Given the description of an element on the screen output the (x, y) to click on. 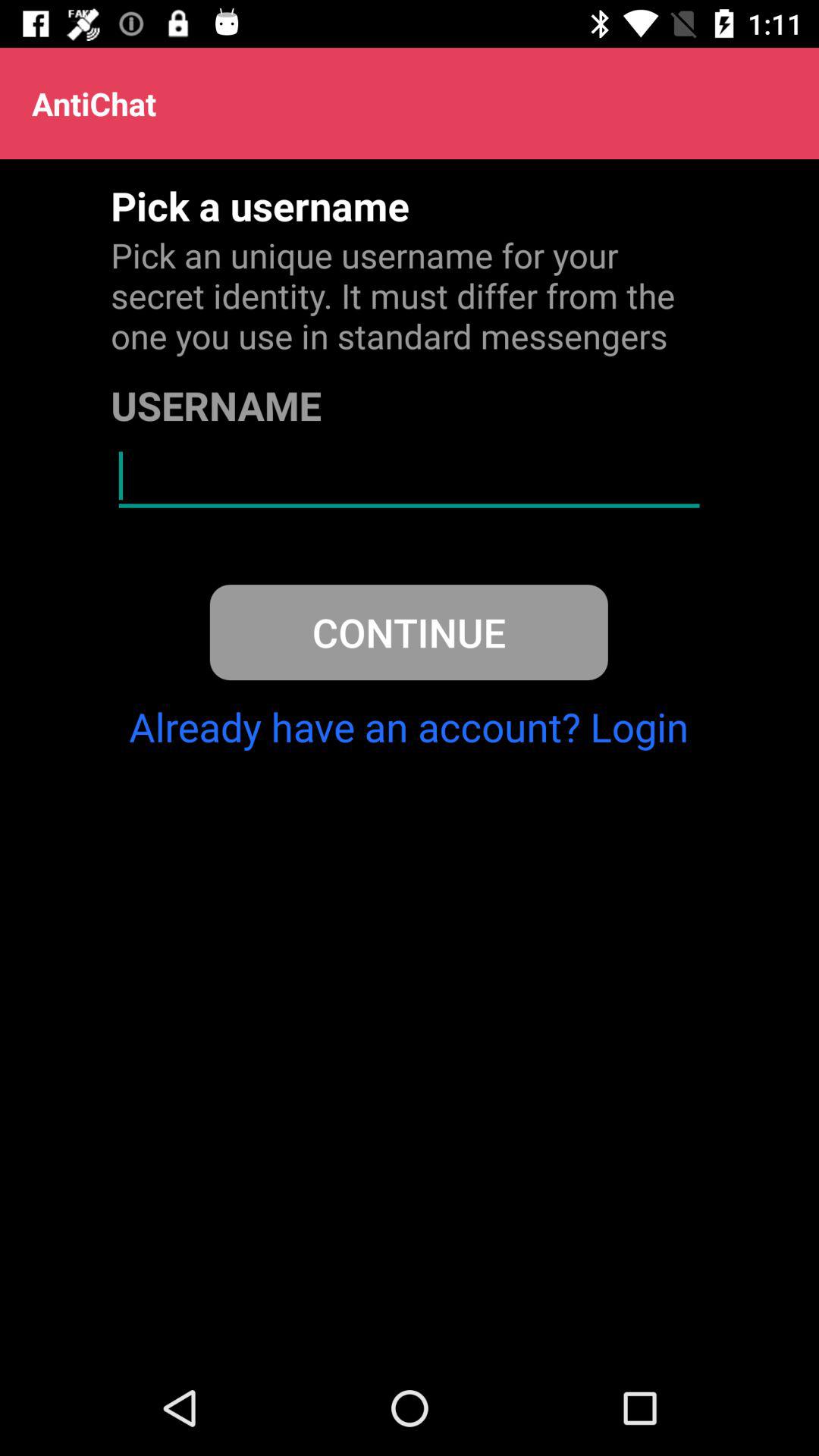
launch icon below the username item (408, 476)
